Given the description of an element on the screen output the (x, y) to click on. 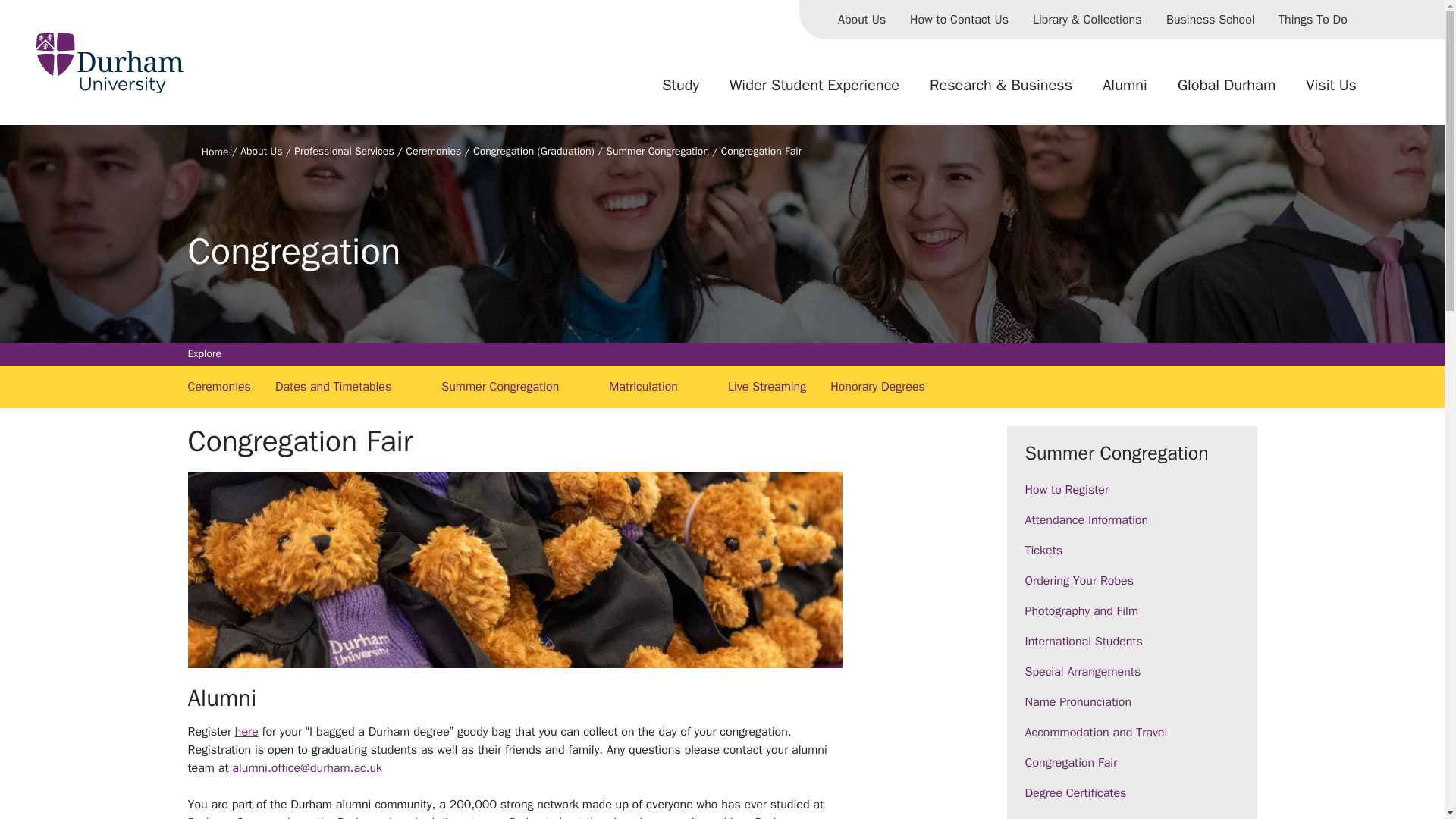
Things To Do (1312, 19)
Wider Student Experience (814, 91)
Search (1387, 91)
Global Durham (1226, 91)
Collapse (1371, 19)
About Us (861, 19)
Business School (1210, 19)
How to Contact Us (959, 19)
Study (680, 91)
Alumni (1124, 91)
Visit Us (1331, 91)
